Given the description of an element on the screen output the (x, y) to click on. 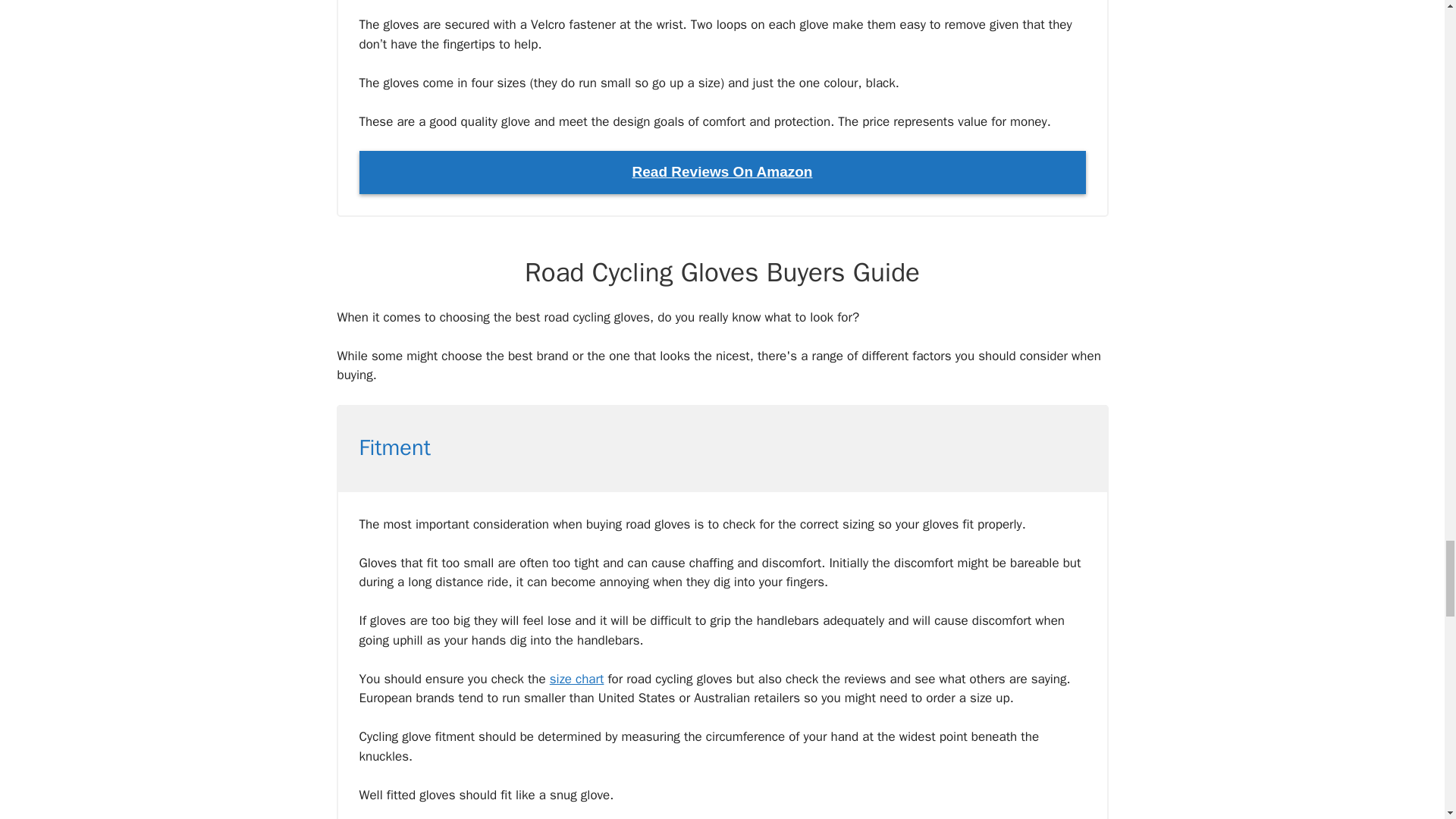
Read Reviews On Amazon (722, 172)
size chart (577, 678)
